Given the description of an element on the screen output the (x, y) to click on. 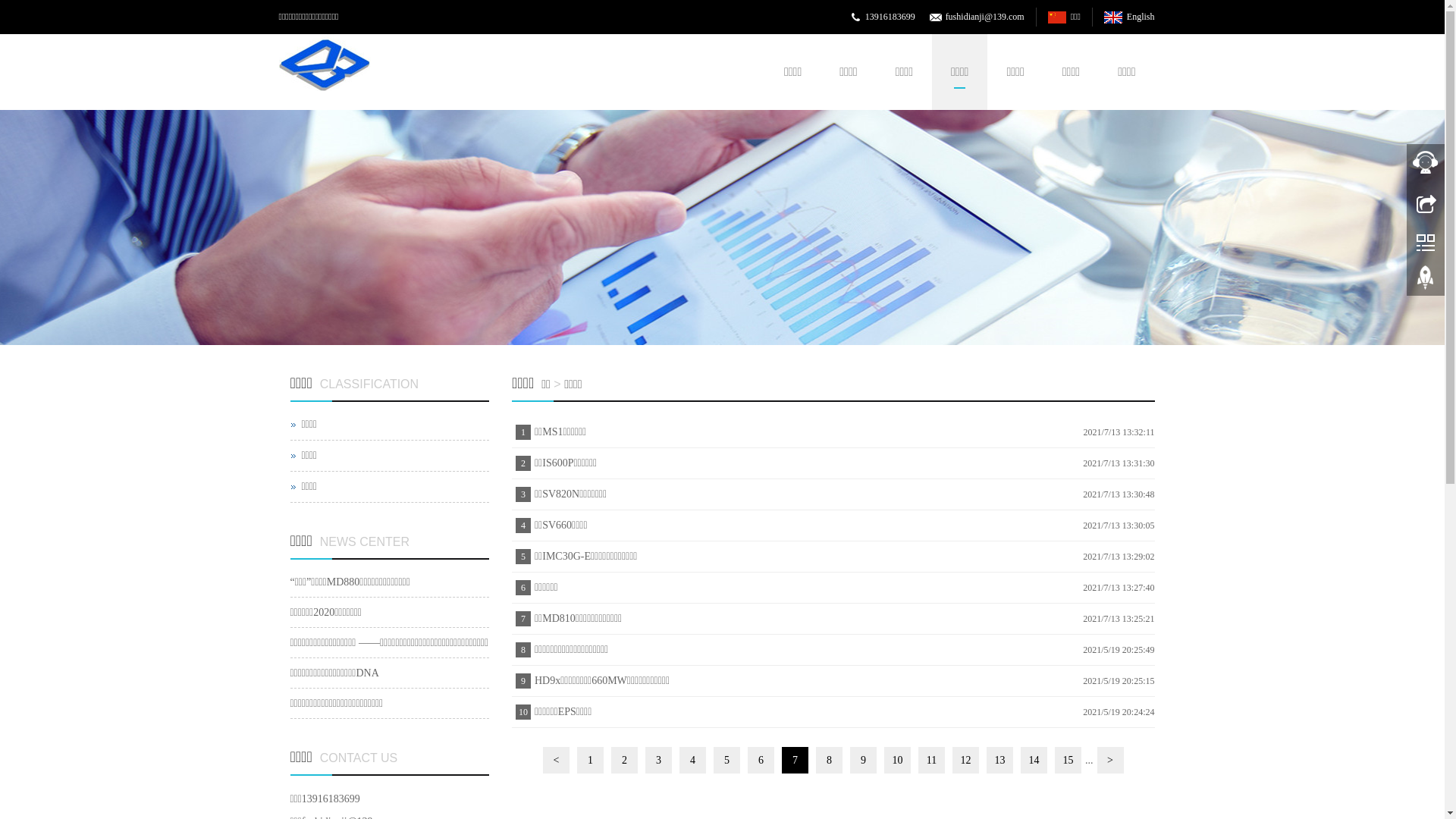
13916183699 Element type: text (890, 16)
12 Element type: text (965, 759)
9 Element type: text (863, 759)
2 Element type: text (624, 759)
5 Element type: text (726, 759)
14 Element type: text (1033, 759)
8 Element type: text (828, 759)
2 Element type: hover (722, 227)
> Element type: text (1109, 759)
fushidianji@139.com Element type: text (984, 16)
6 Element type: text (760, 759)
1 Element type: text (590, 759)
7 Element type: text (794, 759)
15 Element type: text (1067, 759)
13 Element type: text (999, 759)
10 Element type: text (897, 759)
< Element type: text (555, 759)
3 Element type: text (658, 759)
English Element type: text (1129, 16)
11 Element type: text (931, 759)
4 Element type: text (692, 759)
